Given the description of an element on the screen output the (x, y) to click on. 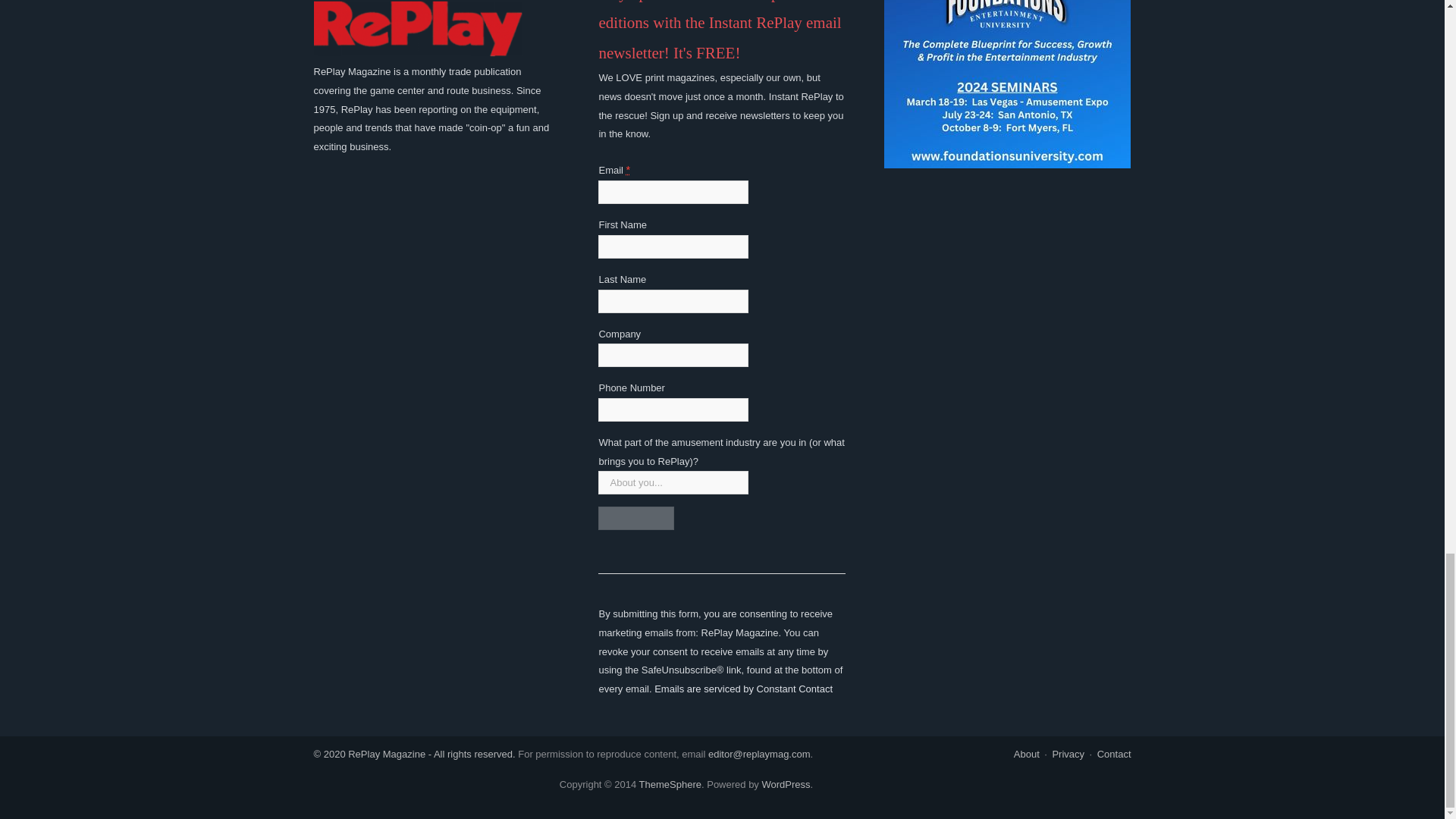
Sign me up! (635, 517)
